Given the description of an element on the screen output the (x, y) to click on. 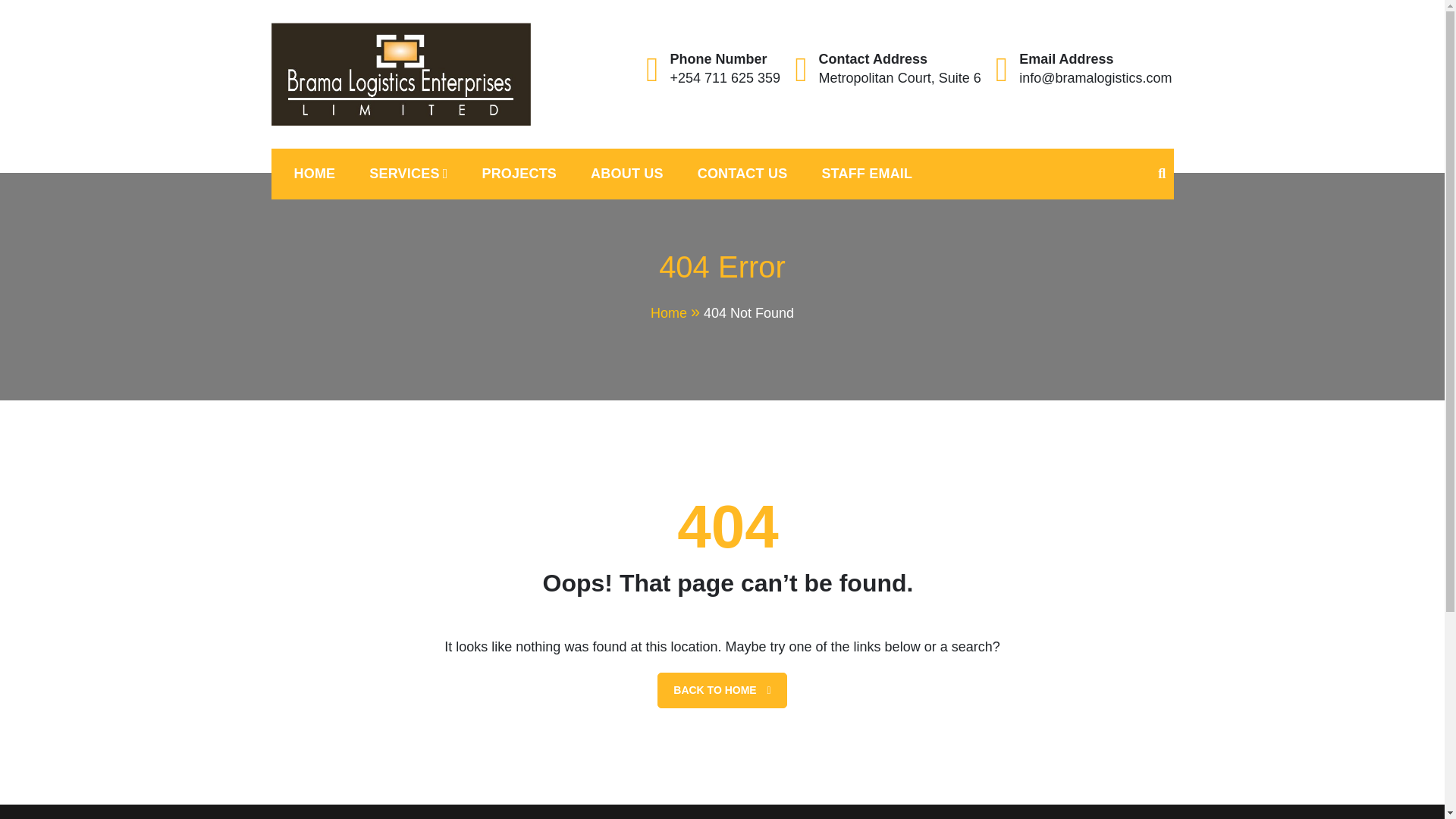
PROJECTS (518, 173)
CONTACT US (742, 173)
Brama Logistics (376, 142)
Home (676, 313)
BACK TO HOME (722, 690)
ABOUT US (626, 173)
SERVICES (408, 173)
HOME (314, 173)
STAFF EMAIL (866, 173)
